Given the description of an element on the screen output the (x, y) to click on. 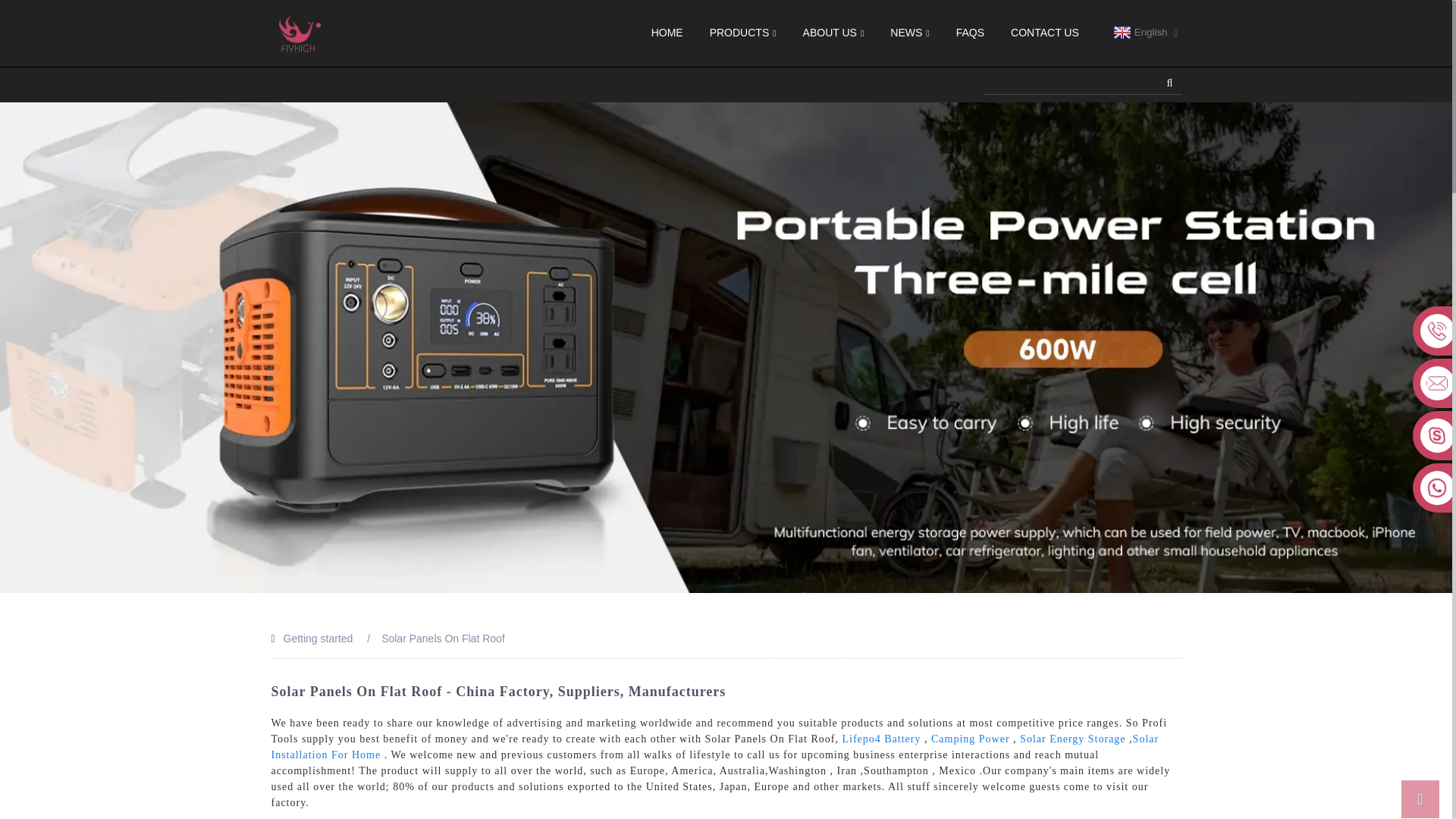
Solar Installation For Home (714, 746)
Lifepo4 Battery (880, 738)
Lifepo4 Battery (880, 738)
Getting started (318, 638)
Camping Power (970, 738)
Camping Power (970, 738)
Solar Panels On Flat Roof (443, 638)
ABOUT US (833, 32)
PRODUCTS (743, 32)
HOME (666, 32)
